Given the description of an element on the screen output the (x, y) to click on. 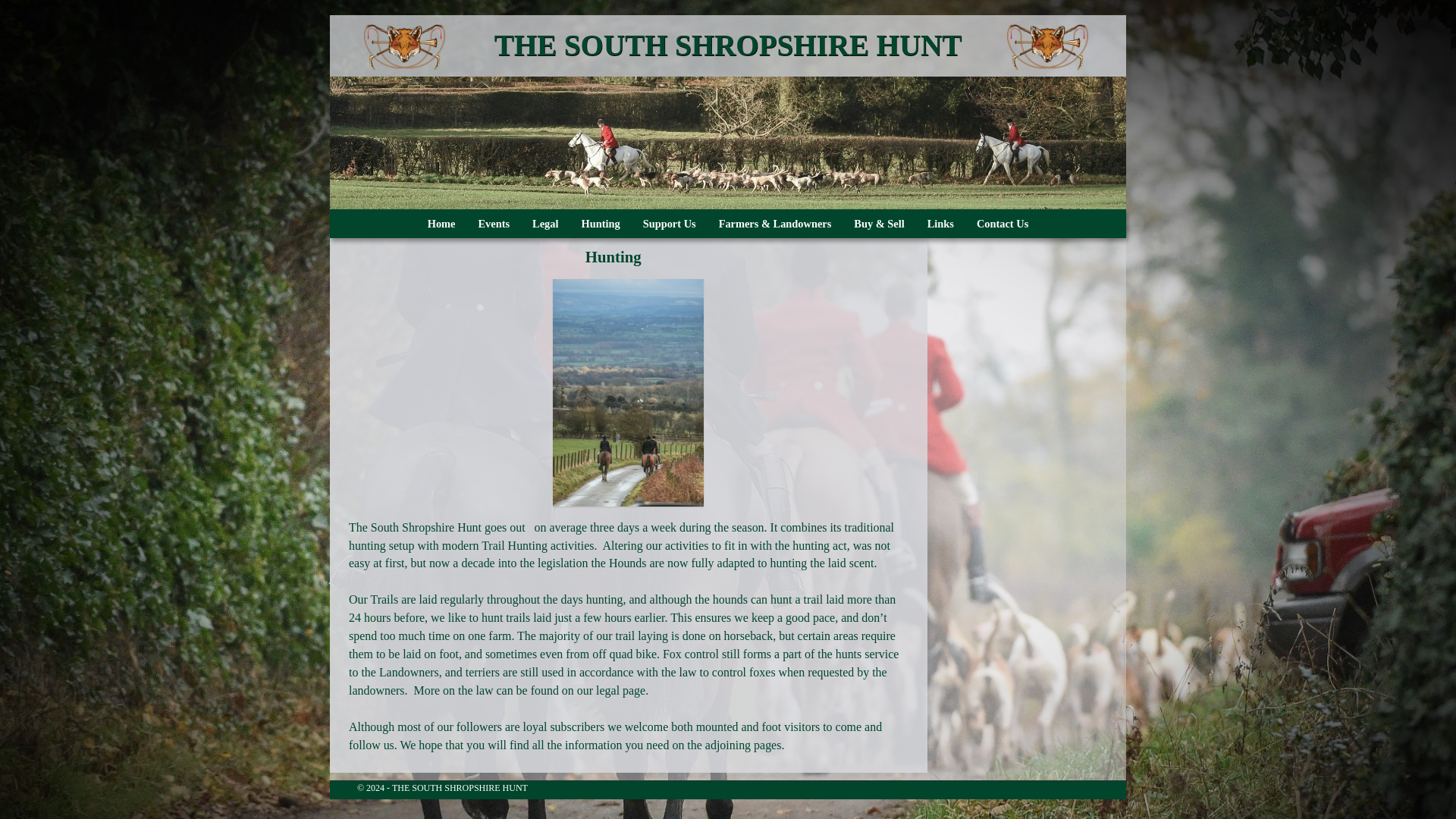
THE SOUTH SHROPSHIRE HUNT (728, 44)
Events (493, 223)
Support Us (669, 223)
THE SOUTH SHROPSHIRE HUNT (728, 44)
Hunting (599, 223)
Contact Us (1002, 223)
Horses (727, 142)
Links (940, 223)
Skip to secondary content (379, 215)
Legal (545, 223)
Home (441, 223)
Skip to primary content (376, 215)
